Given the description of an element on the screen output the (x, y) to click on. 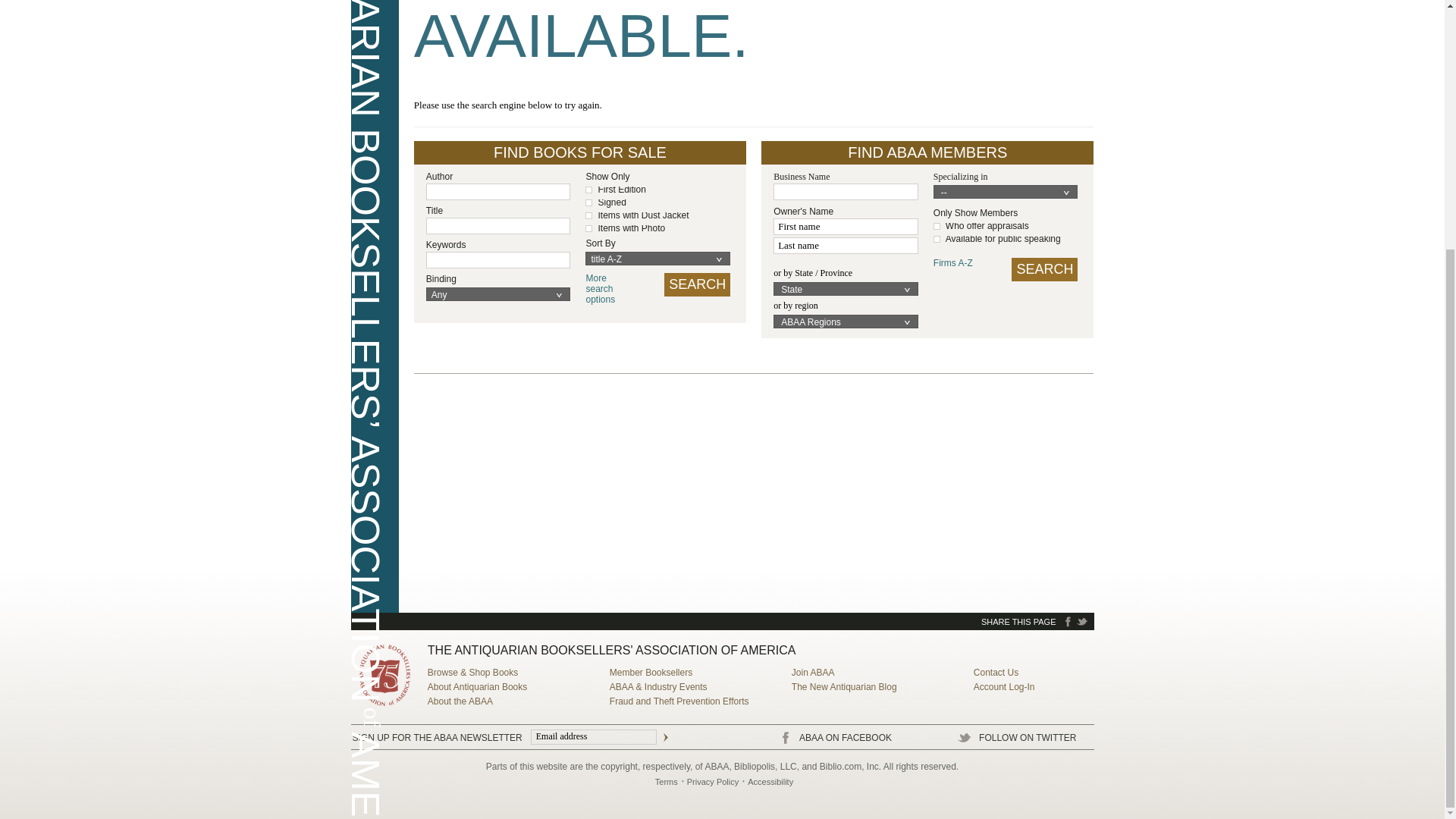
Join ABAA (813, 672)
Firms A-Z (963, 262)
Fraud and Theft Prevention Efforts (679, 701)
search (1044, 269)
TWITTER (1082, 621)
Account Log-In (1004, 686)
search (696, 284)
About Antiquarian Books (609, 288)
Contact Us (477, 686)
